Given the description of an element on the screen output the (x, y) to click on. 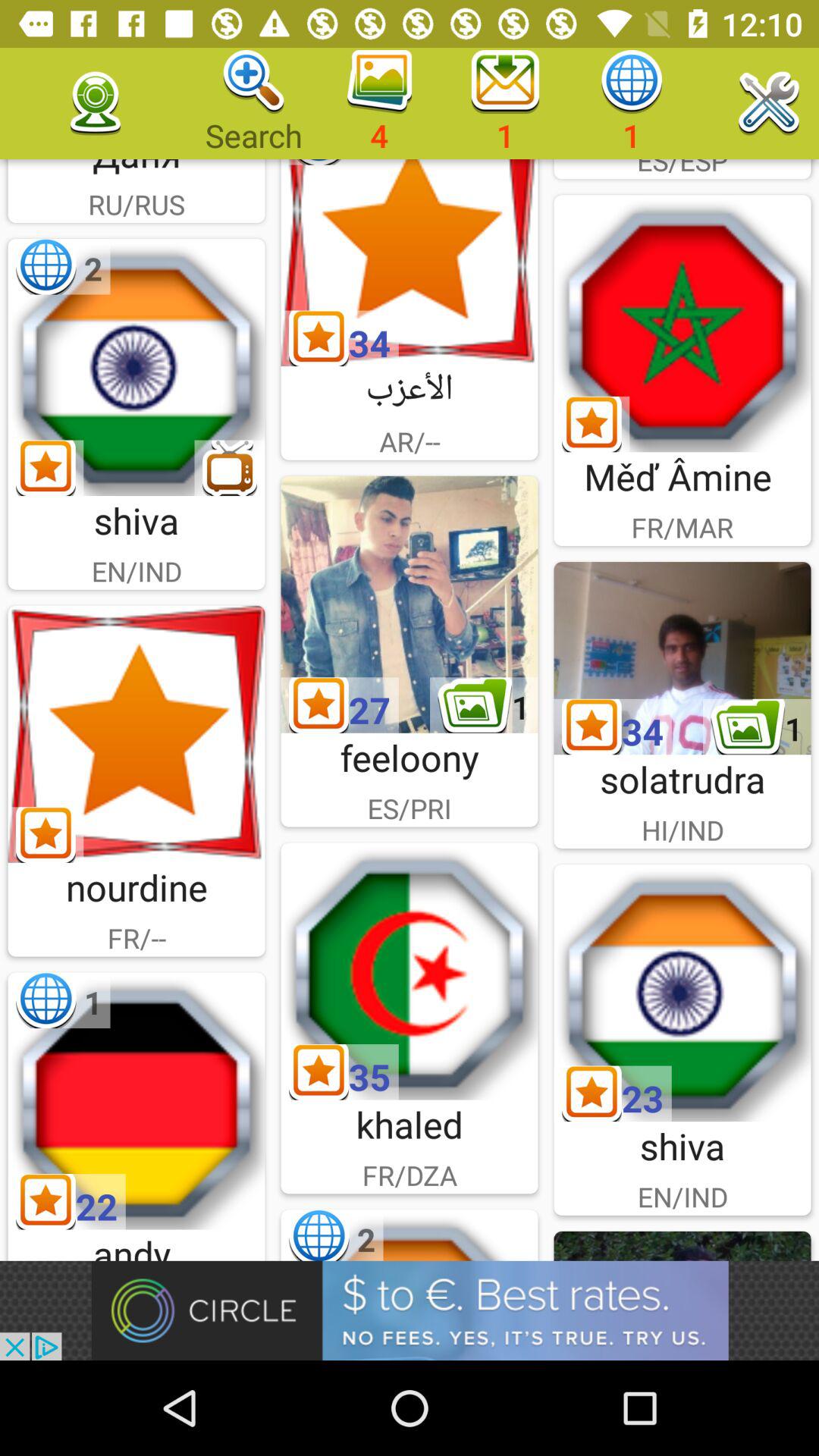
enter chatroom (136, 1100)
